Given the description of an element on the screen output the (x, y) to click on. 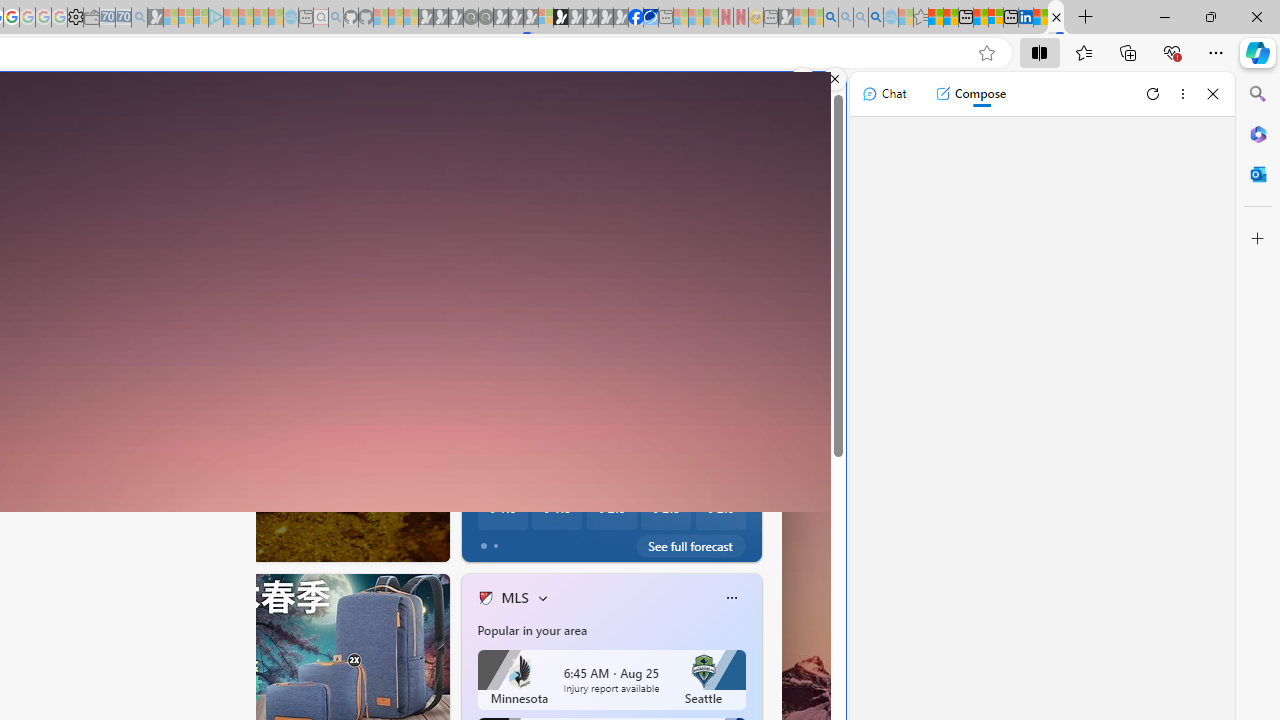
3k Like (487, 541)
207 Like (490, 541)
AutomationID: tab-20 (140, 542)
AutomationID: tab-27 (197, 542)
